Given the description of an element on the screen output the (x, y) to click on. 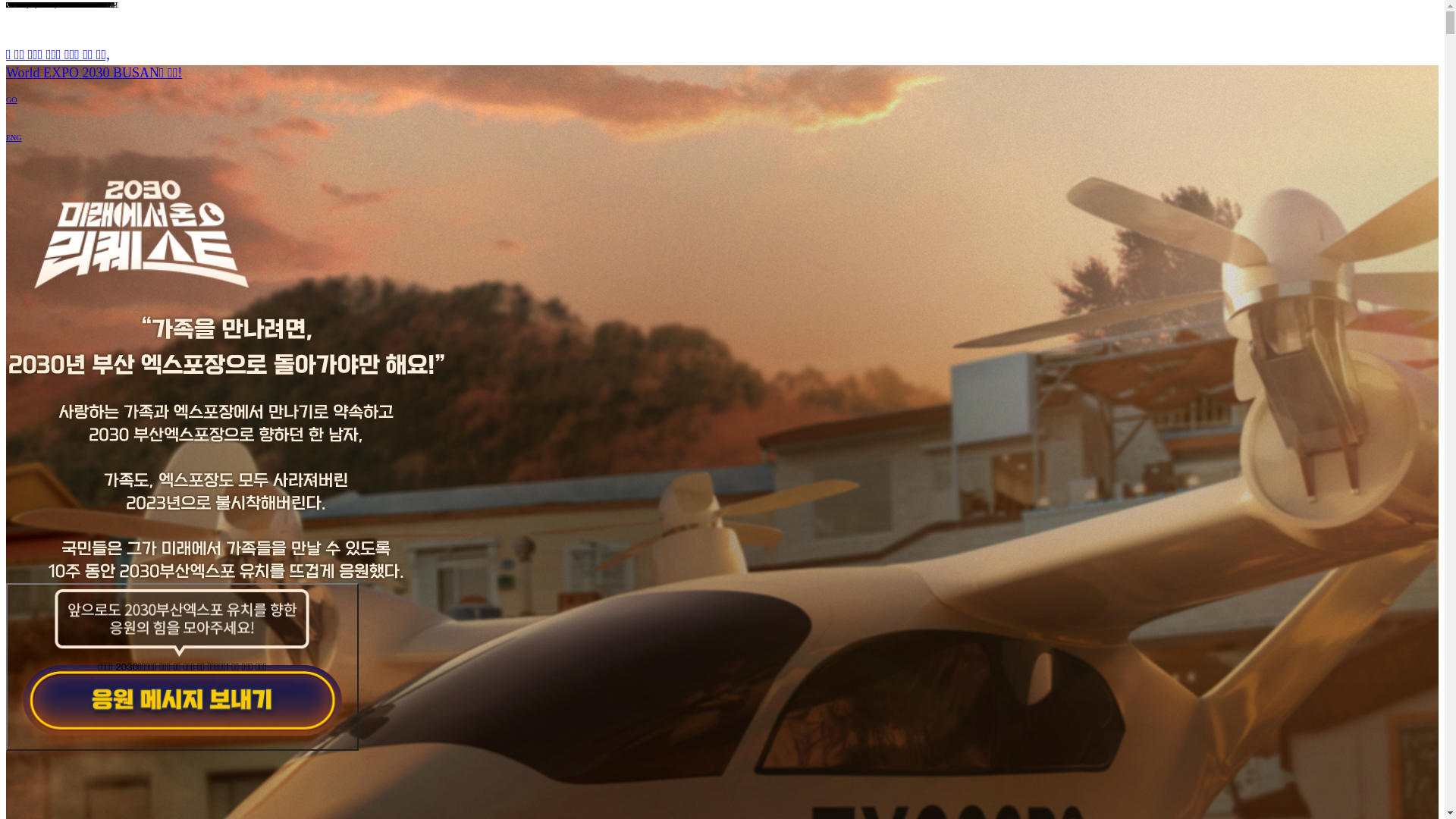
ENG Element type: text (13, 137)
